Given the description of an element on the screen output the (x, y) to click on. 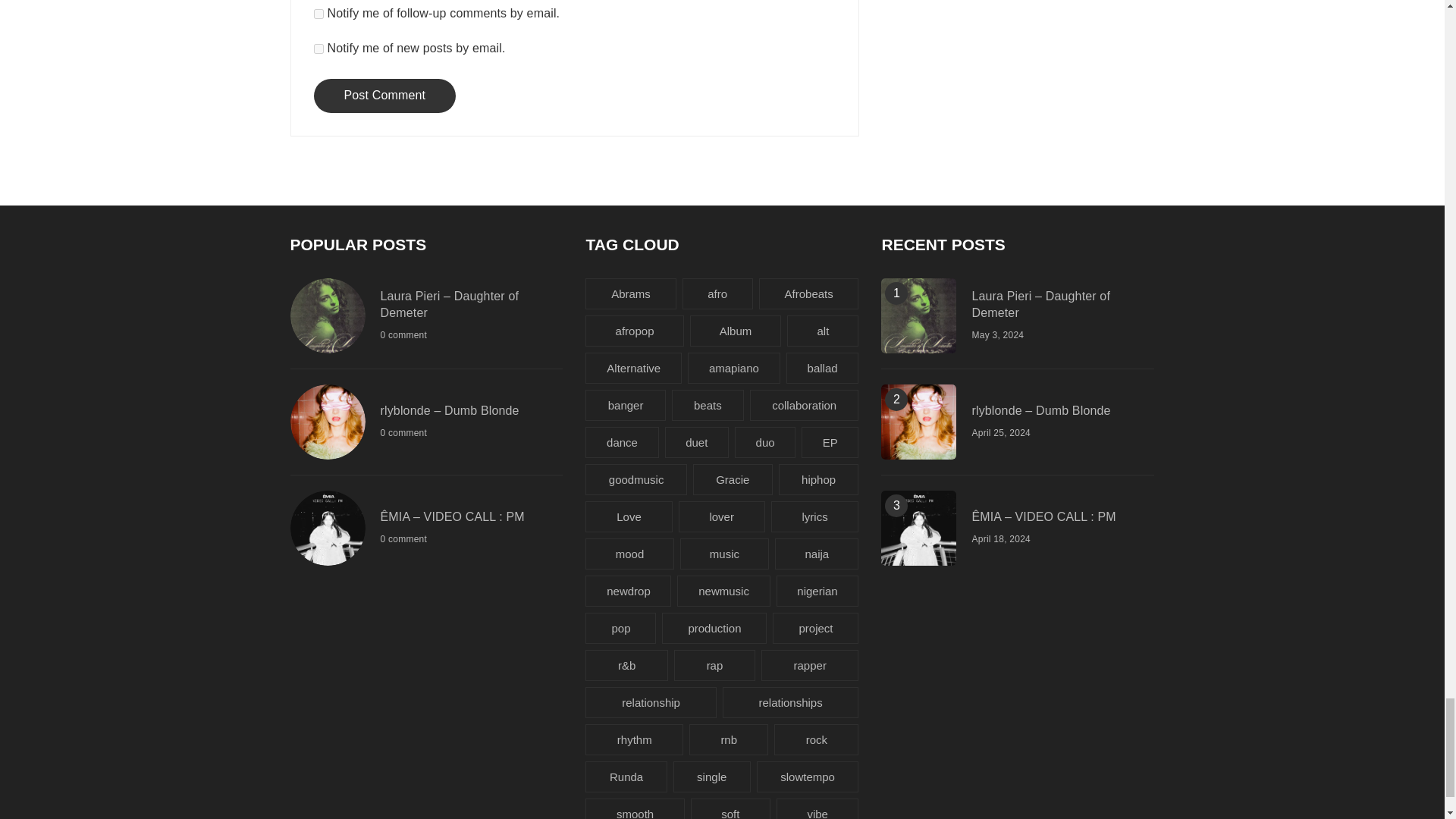
subscribe (318, 49)
Post Comment (385, 95)
subscribe (318, 13)
Post Comment (385, 95)
